Given the description of an element on the screen output the (x, y) to click on. 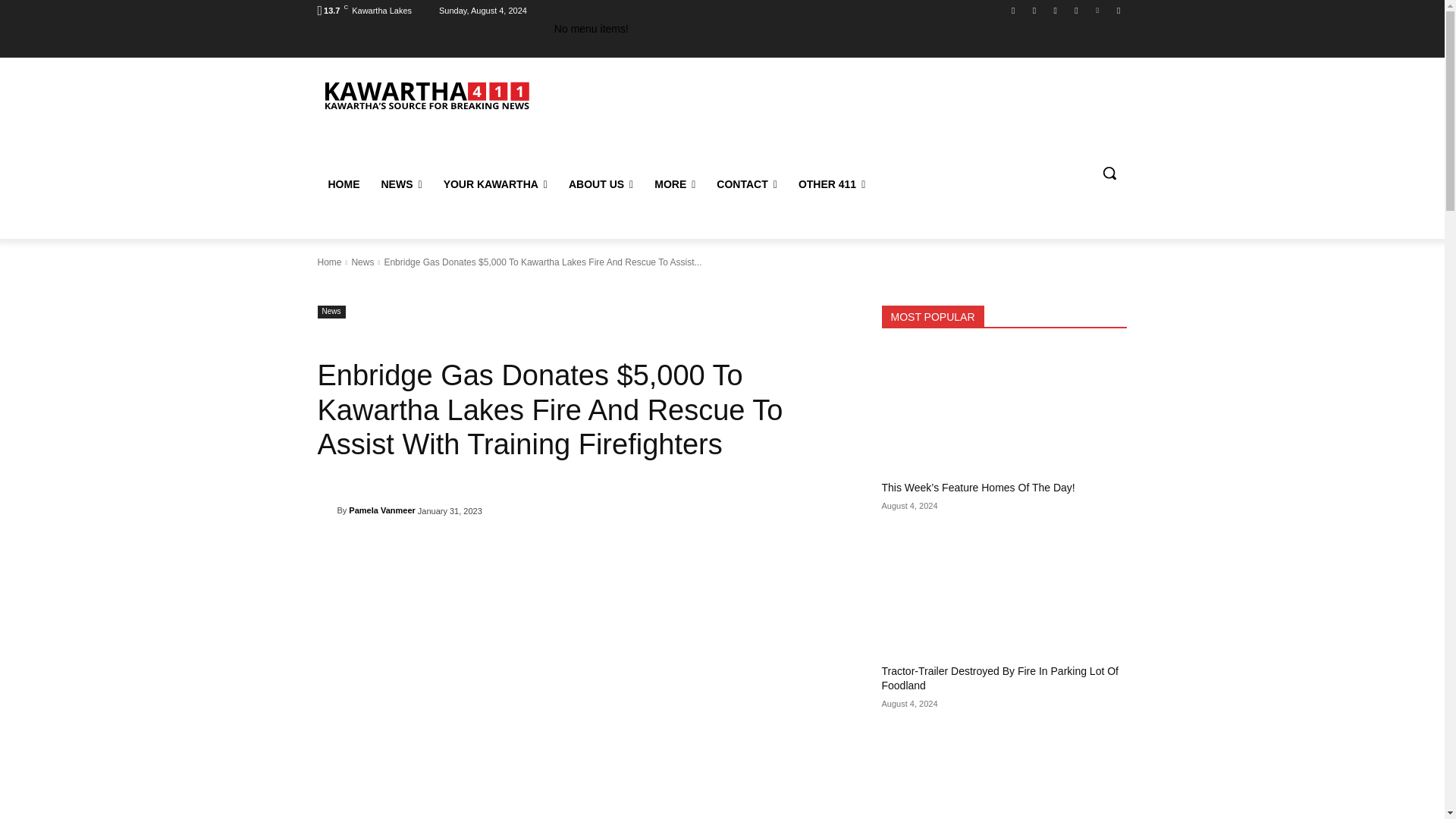
Instagram (1034, 9)
Twitter (1097, 9)
Kawartha 411 News (425, 94)
View all posts in News (362, 262)
Telegram (1075, 9)
Facebook (1013, 9)
Paypal (1055, 9)
Youtube (1117, 9)
